Given the description of an element on the screen output the (x, y) to click on. 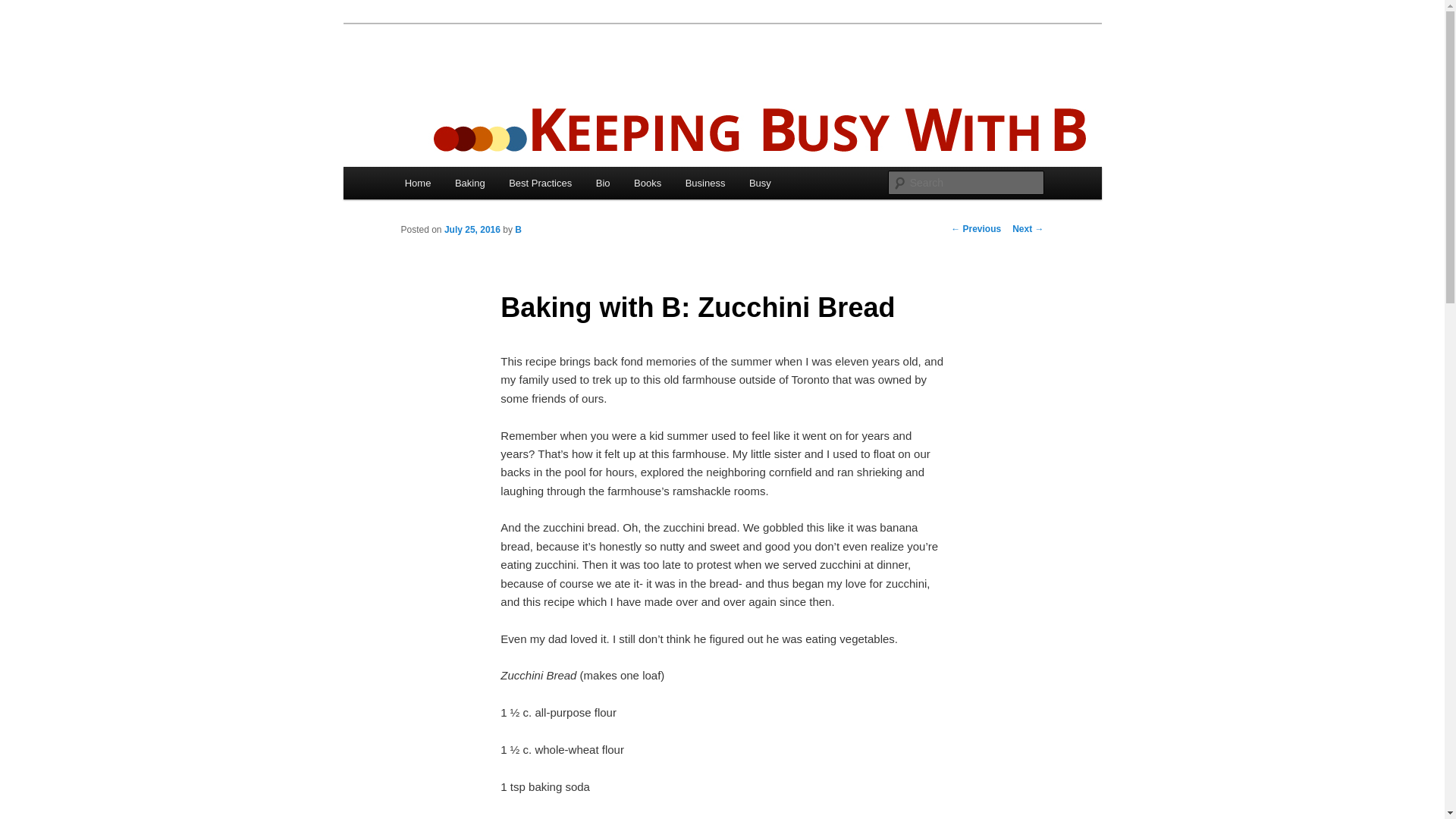
Baking (469, 183)
July 25, 2016 (472, 229)
Bio (602, 183)
Keeping Busy With B (515, 78)
Home (417, 183)
Best Practices (539, 183)
Books (646, 183)
Search (24, 8)
Business (704, 183)
